Given the description of an element on the screen output the (x, y) to click on. 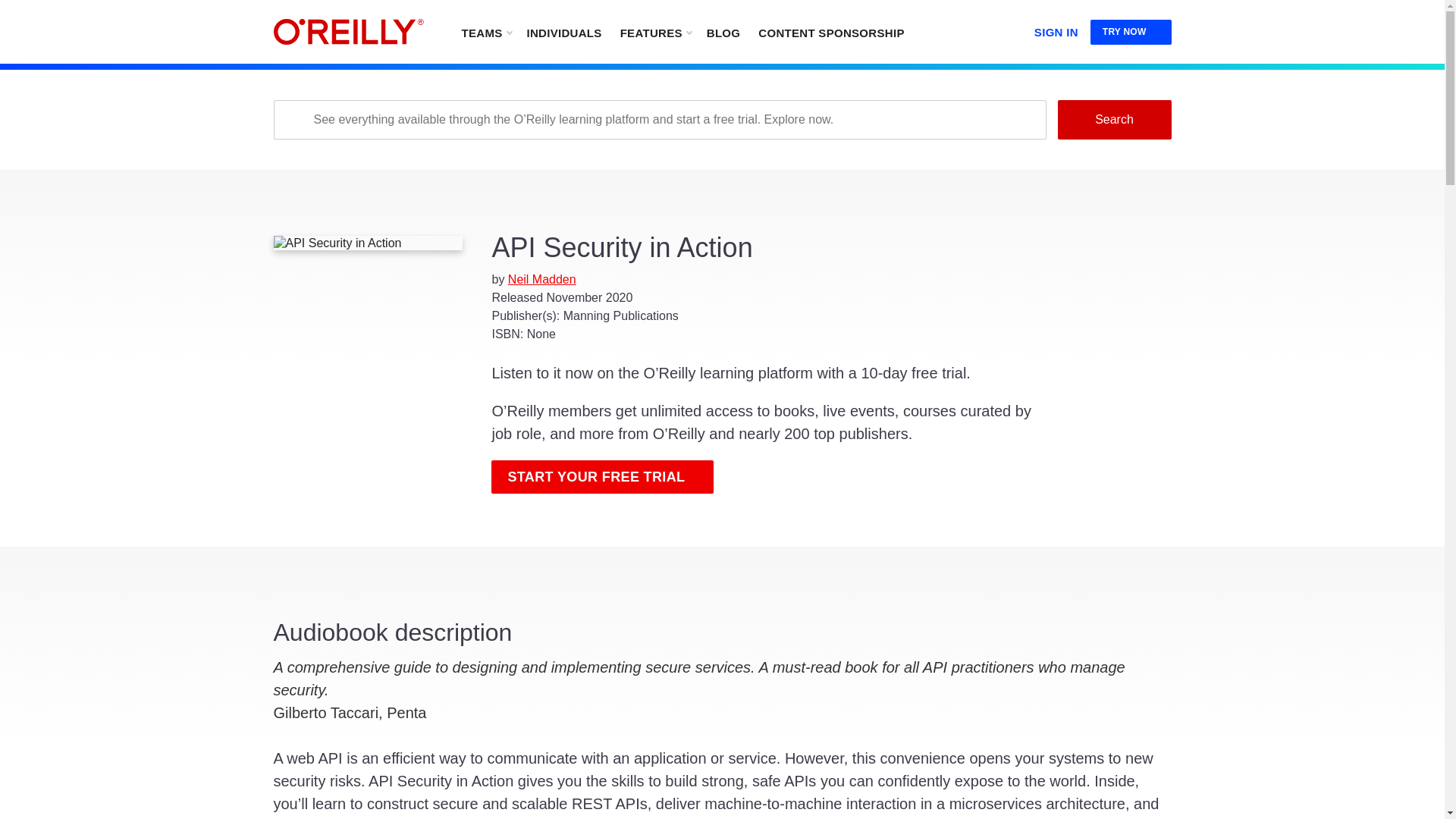
SIGN IN (1055, 29)
Search (1113, 119)
home page (348, 31)
Search (1113, 119)
TRY NOW (1131, 32)
Search (1113, 119)
INDIVIDUALS (563, 31)
BLOG (723, 31)
FEATURES (655, 31)
TEAMS (486, 31)
